Given the description of an element on the screen output the (x, y) to click on. 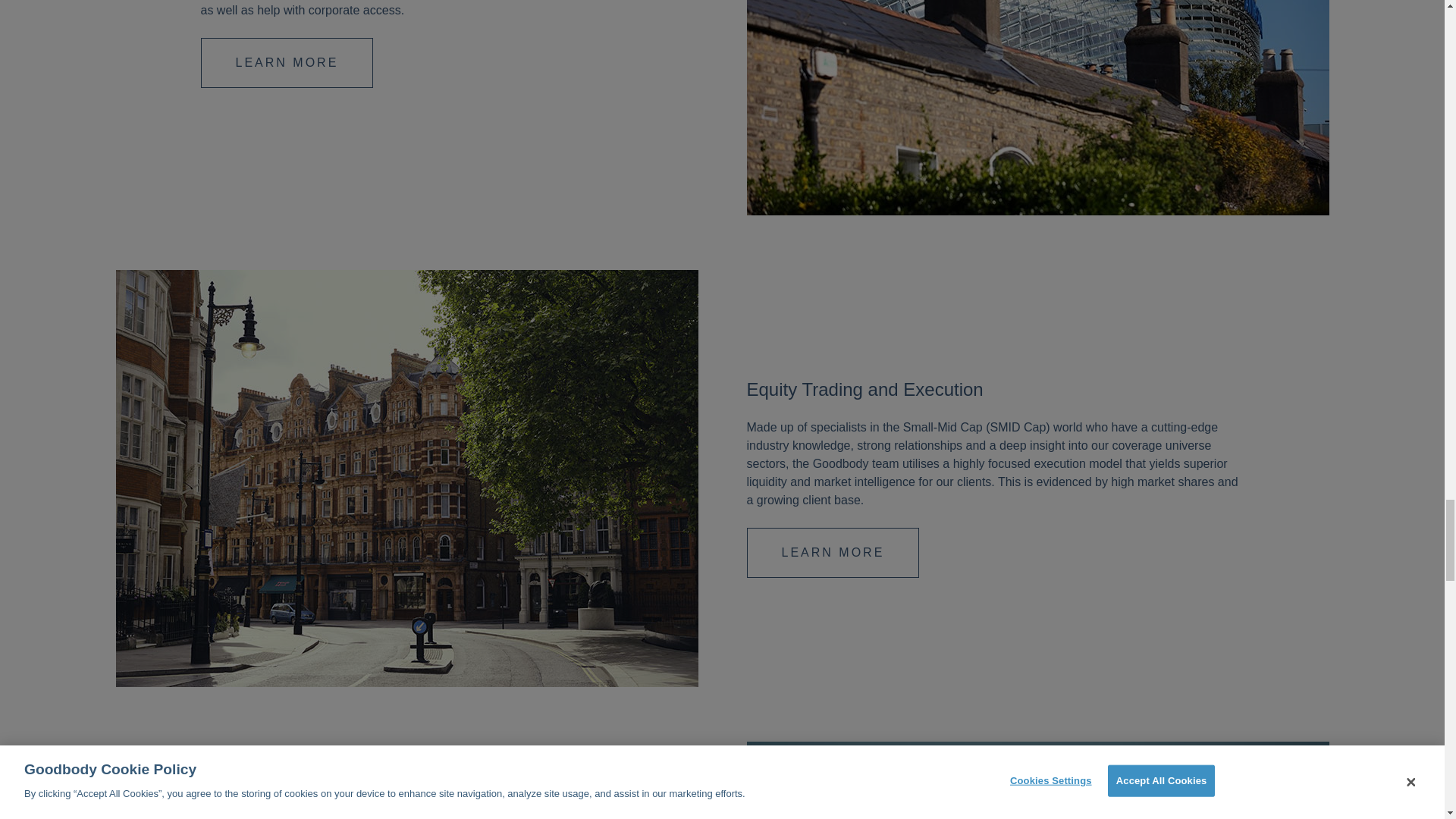
port-dublin-goodbody (1036, 780)
aviva-aerial-dublin-goodbody (1036, 107)
